Given the description of an element on the screen output the (x, y) to click on. 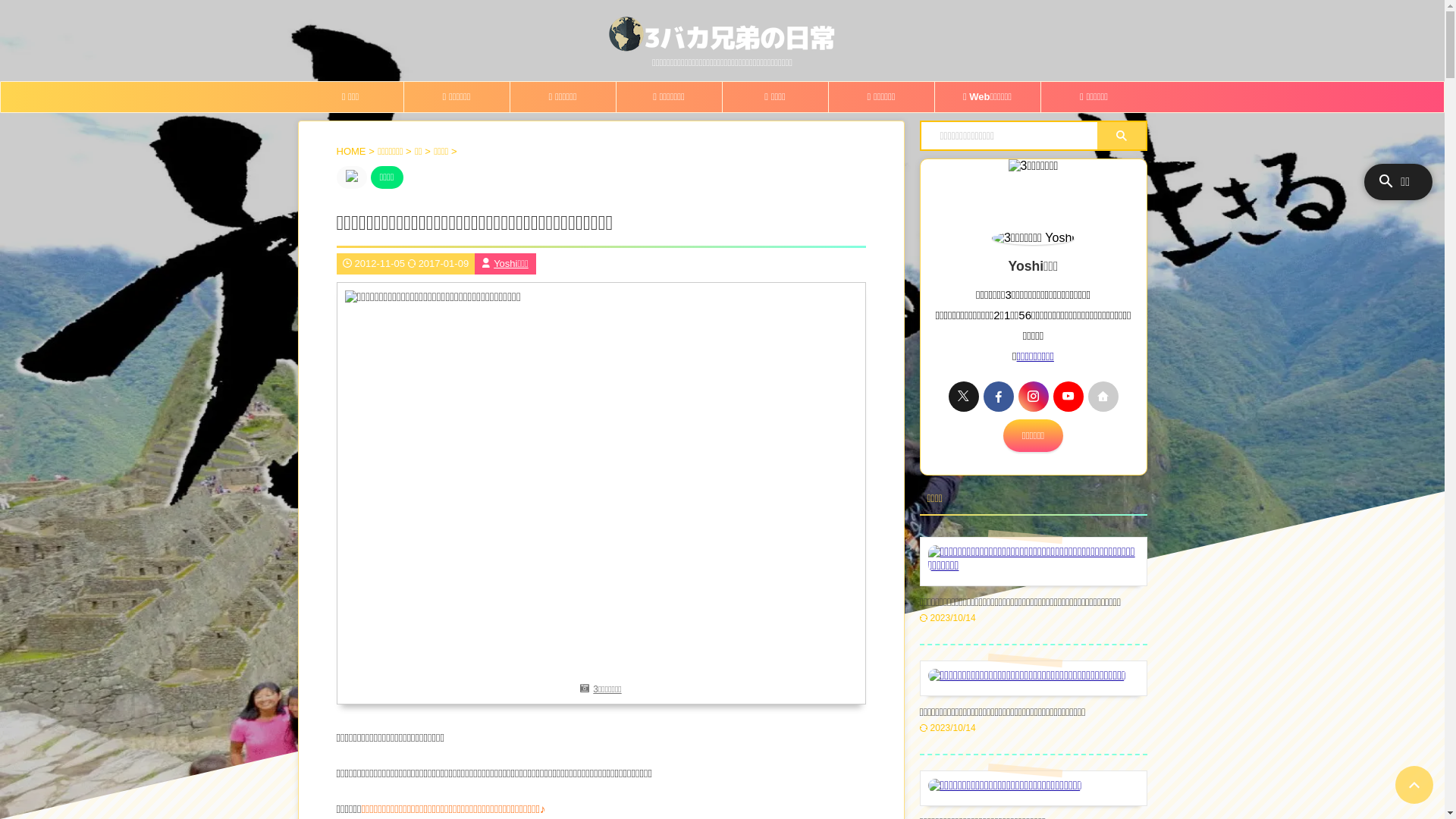
facebook Element type: hover (997, 396)
youtube Element type: hover (1067, 396)
Advertisement Element type: hover (1275, 347)
HOME Element type: text (352, 150)
instagram Element type: hover (1032, 396)
twitter Element type: hover (962, 396)
home Element type: hover (1102, 396)
